Given the description of an element on the screen output the (x, y) to click on. 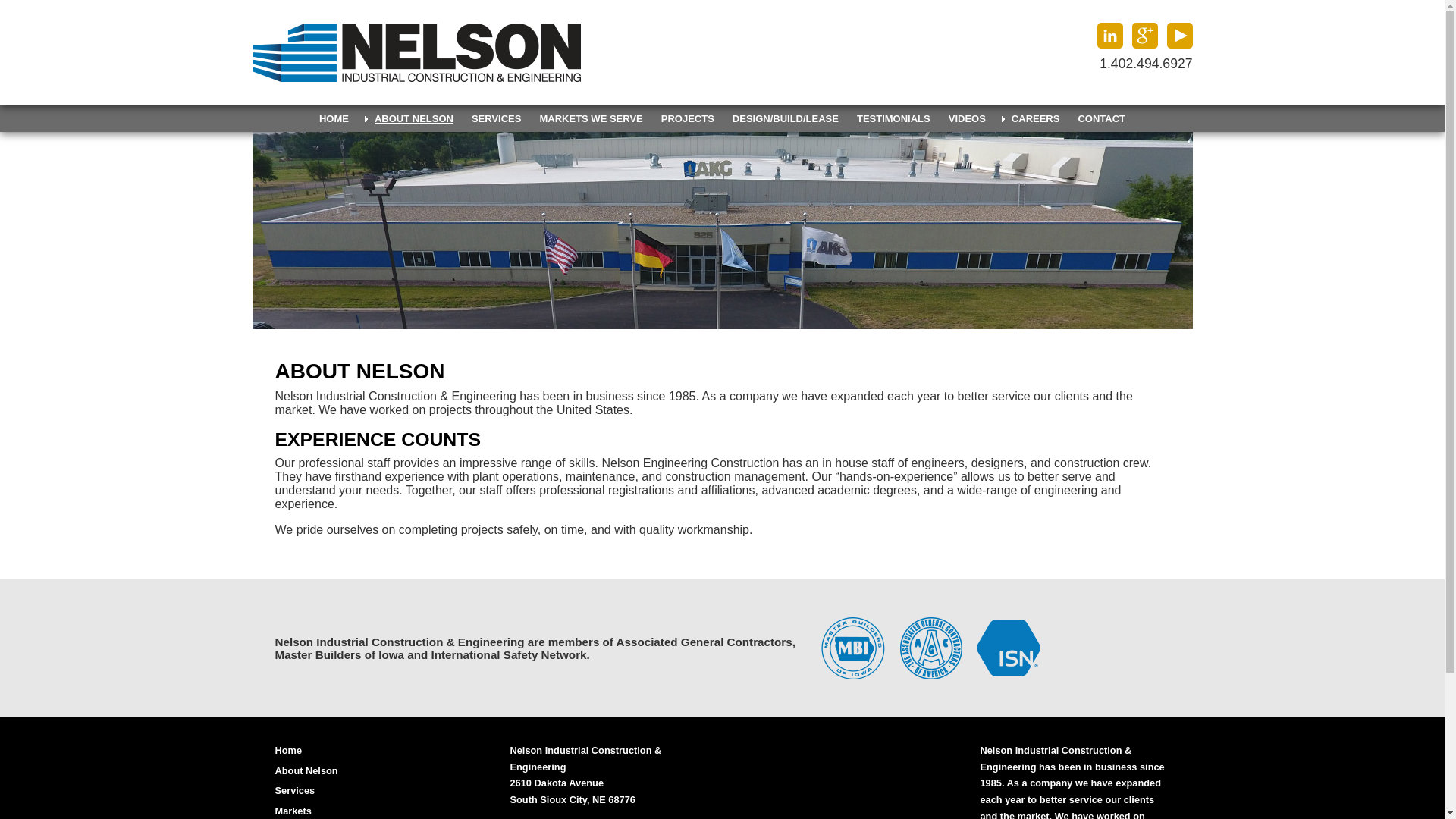
CAREERS (1031, 118)
MARKETS WE SERVE (589, 118)
CONTACT (1101, 118)
VIDEOS (966, 118)
TESTIMONIALS (893, 118)
ABOUT NELSON (410, 118)
1.402.494.6927 (1145, 63)
HOME (334, 118)
PROJECTS (687, 118)
SERVICES (497, 118)
